Given the description of an element on the screen output the (x, y) to click on. 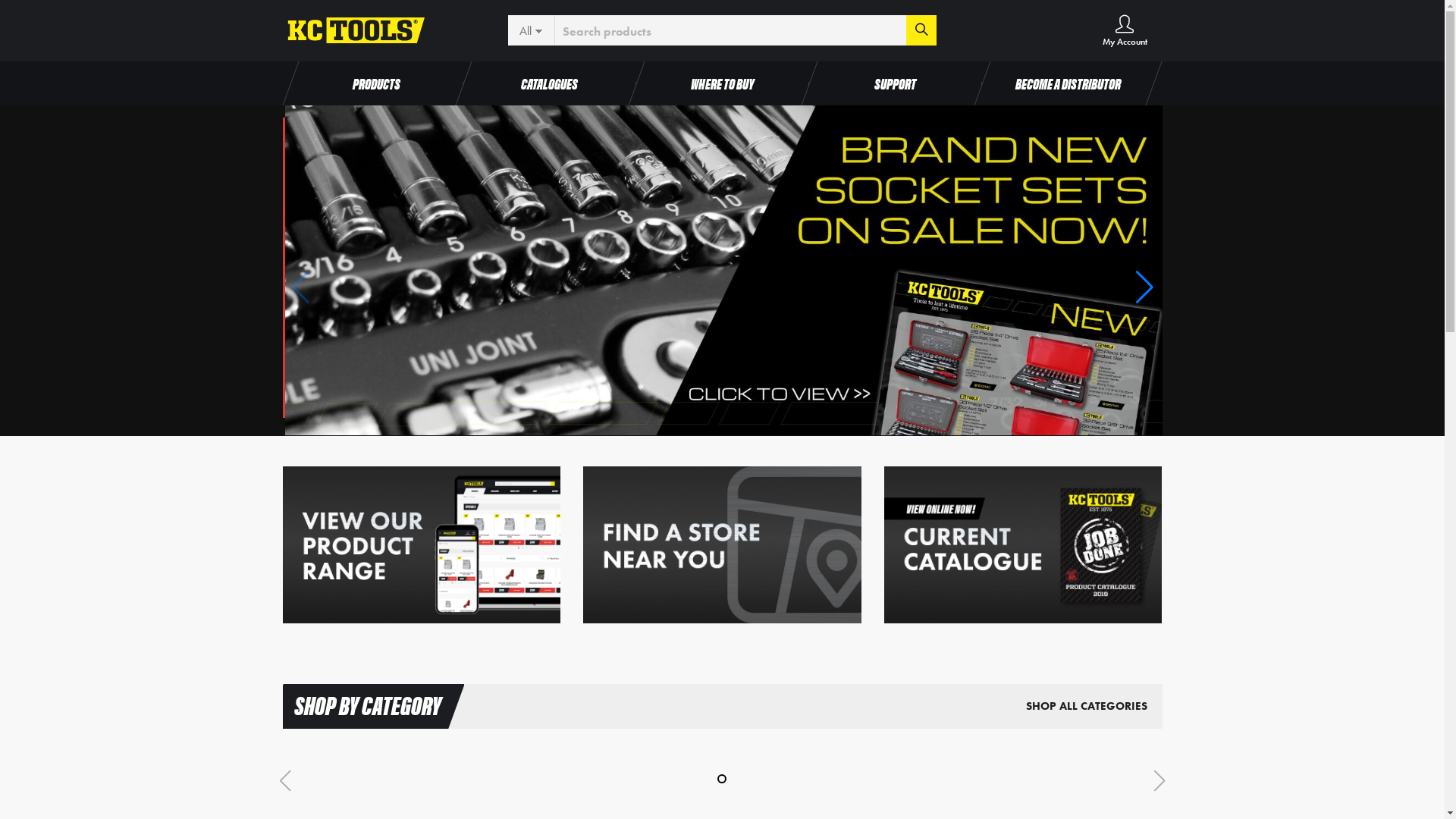
WHERE TO BUY Element type: text (722, 82)
BECOME A DISTRIBUTOR Element type: text (1068, 82)
SUPPORT Element type: text (895, 82)
SHOP ALL CATEGORIES Element type: text (1085, 705)
CATALOGUES Element type: text (549, 82)
My Account Element type: text (1124, 30)
PRODUCTS Element type: text (375, 82)
